Given the description of an element on the screen output the (x, y) to click on. 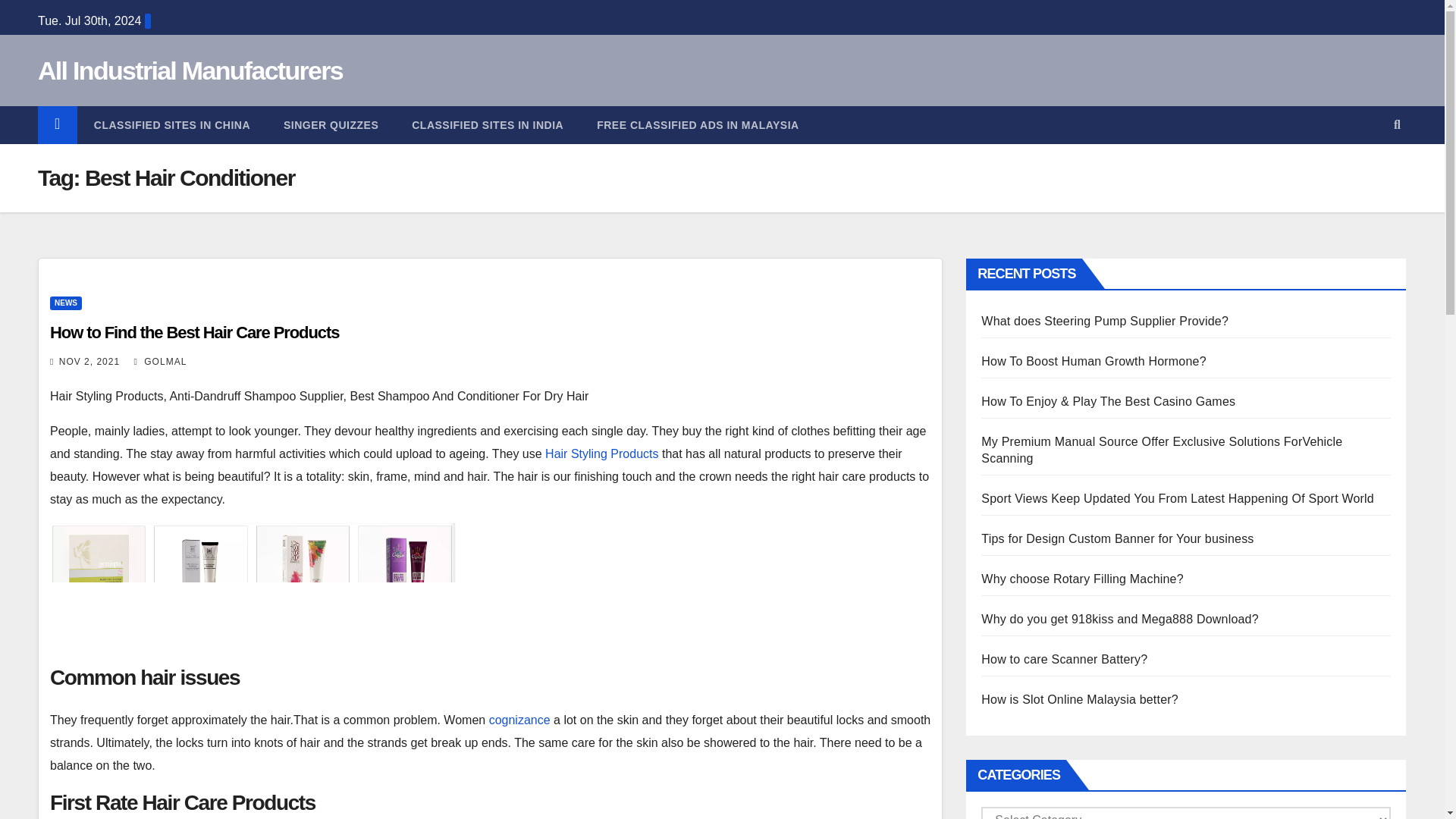
Classified Sites in India (486, 125)
How to Find the Best Hair Care Products (194, 332)
Singer Quizzes (330, 125)
cognizance (519, 719)
All Industrial Manufacturers (189, 70)
CLASSIFIED SITES IN INDIA (486, 125)
SINGER QUIZZES (330, 125)
FREE CLASSIFIED ADS IN MALAYSIA (697, 125)
NEWS (65, 303)
CLASSIFIED SITES IN CHINA (171, 125)
NOV 2, 2021 (89, 361)
Hair Styling Products (601, 453)
Classified Sites in China (171, 125)
GOLMAL (160, 361)
Free Classified Ads in Malaysia (697, 125)
